Given the description of an element on the screen output the (x, y) to click on. 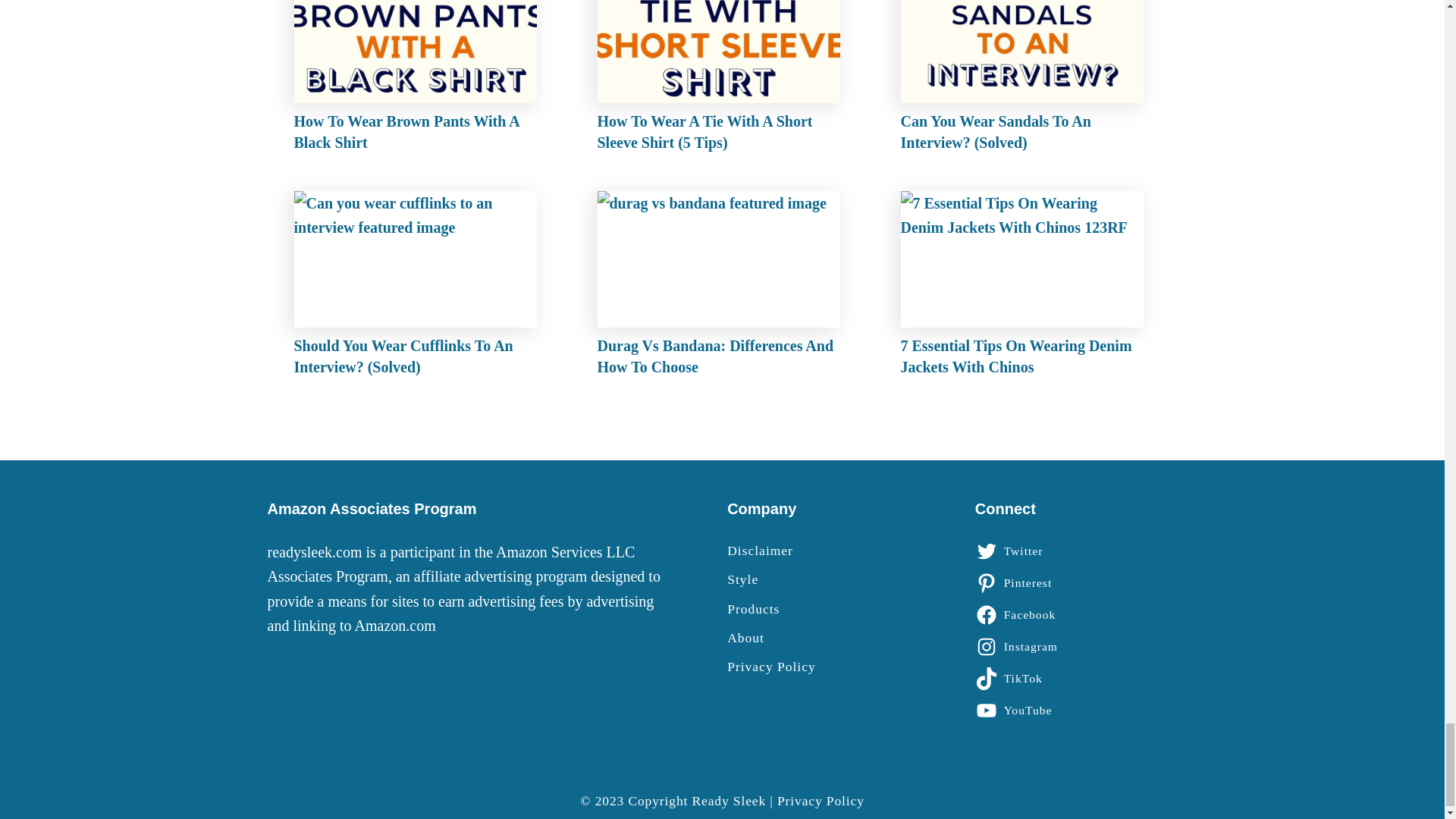
How To Wear Brown Pants With A Black Shirt (419, 80)
7 Essential Tips On Wearing Denim Jackets With Chinos (1026, 287)
Durag Vs Bandana: Differences And How To Choose (721, 287)
How To Wear Brown Pants With A Black Shirt (419, 80)
